Given the description of an element on the screen output the (x, y) to click on. 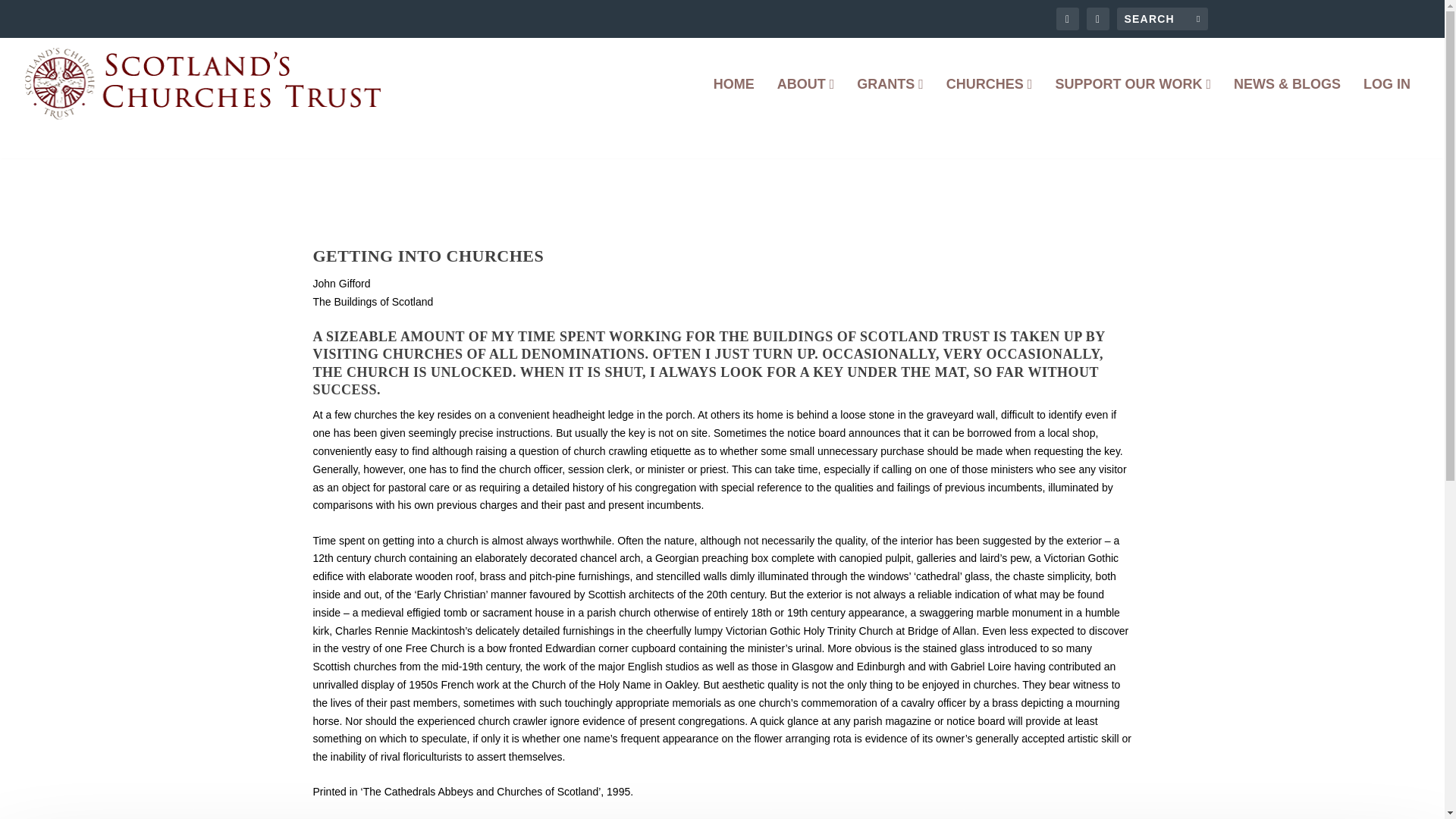
ABOUT (805, 102)
Search for: (1161, 18)
GRANTS (890, 102)
SUPPORT OUR WORK (1132, 102)
LOG IN (1386, 102)
CHURCHES (989, 102)
